Given the description of an element on the screen output the (x, y) to click on. 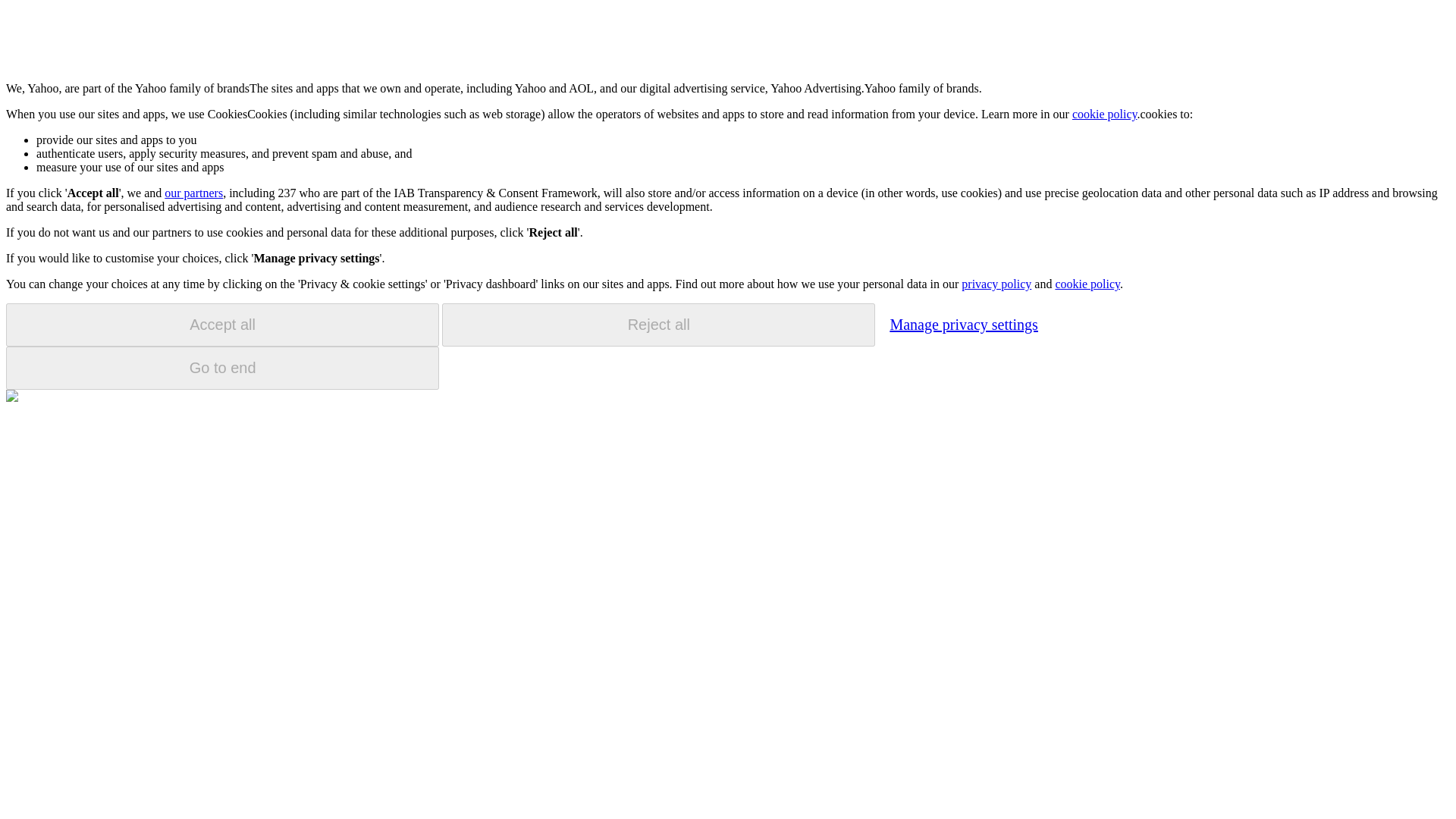
cookie policy (1086, 283)
cookie policy (1104, 113)
Accept all (222, 324)
privacy policy (995, 283)
Reject all (658, 324)
Go to end (222, 367)
Manage privacy settings (963, 323)
our partners (193, 192)
